Given the description of an element on the screen output the (x, y) to click on. 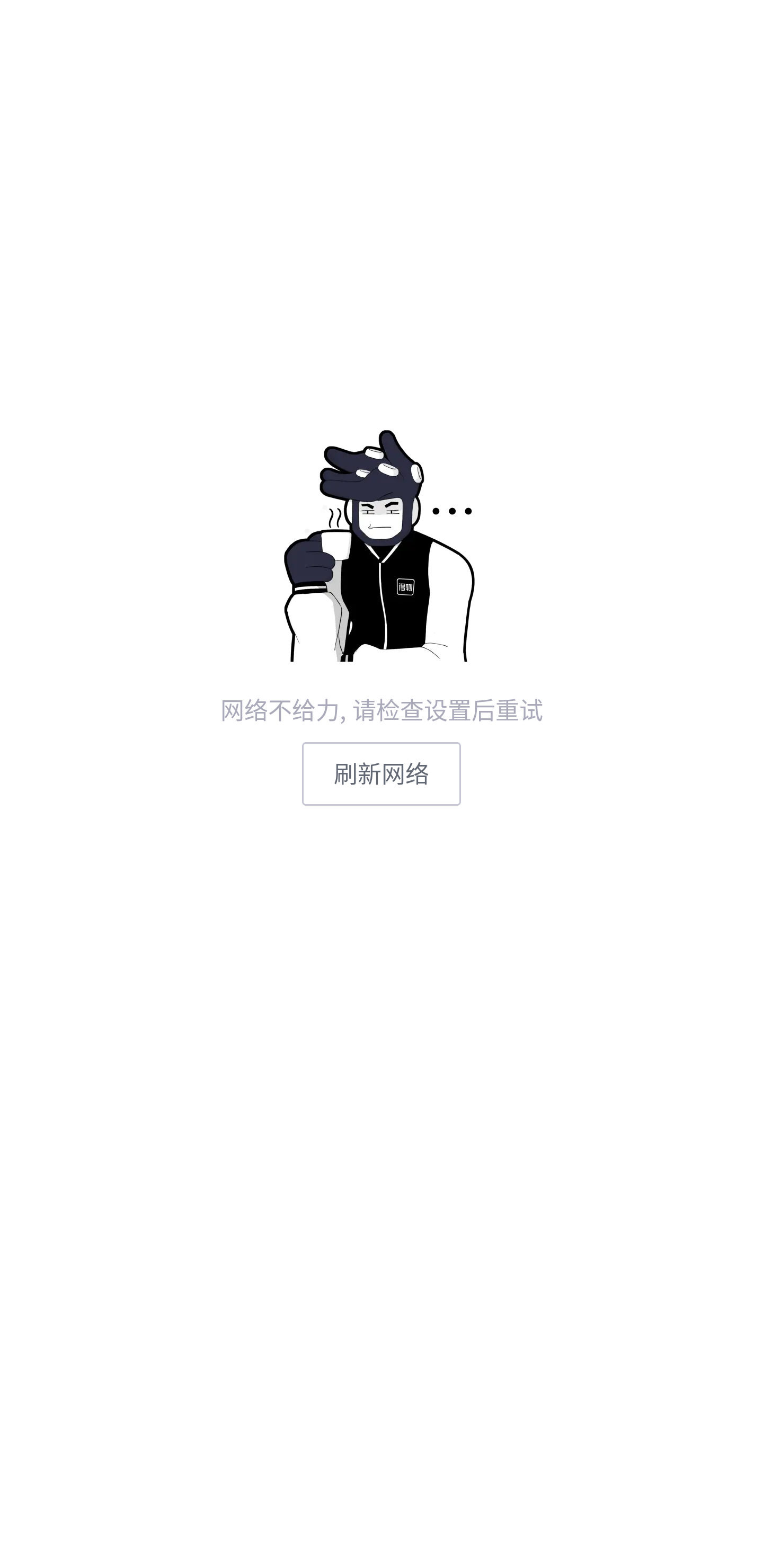
刷新网络 (381, 773)
